Given the description of an element on the screen output the (x, y) to click on. 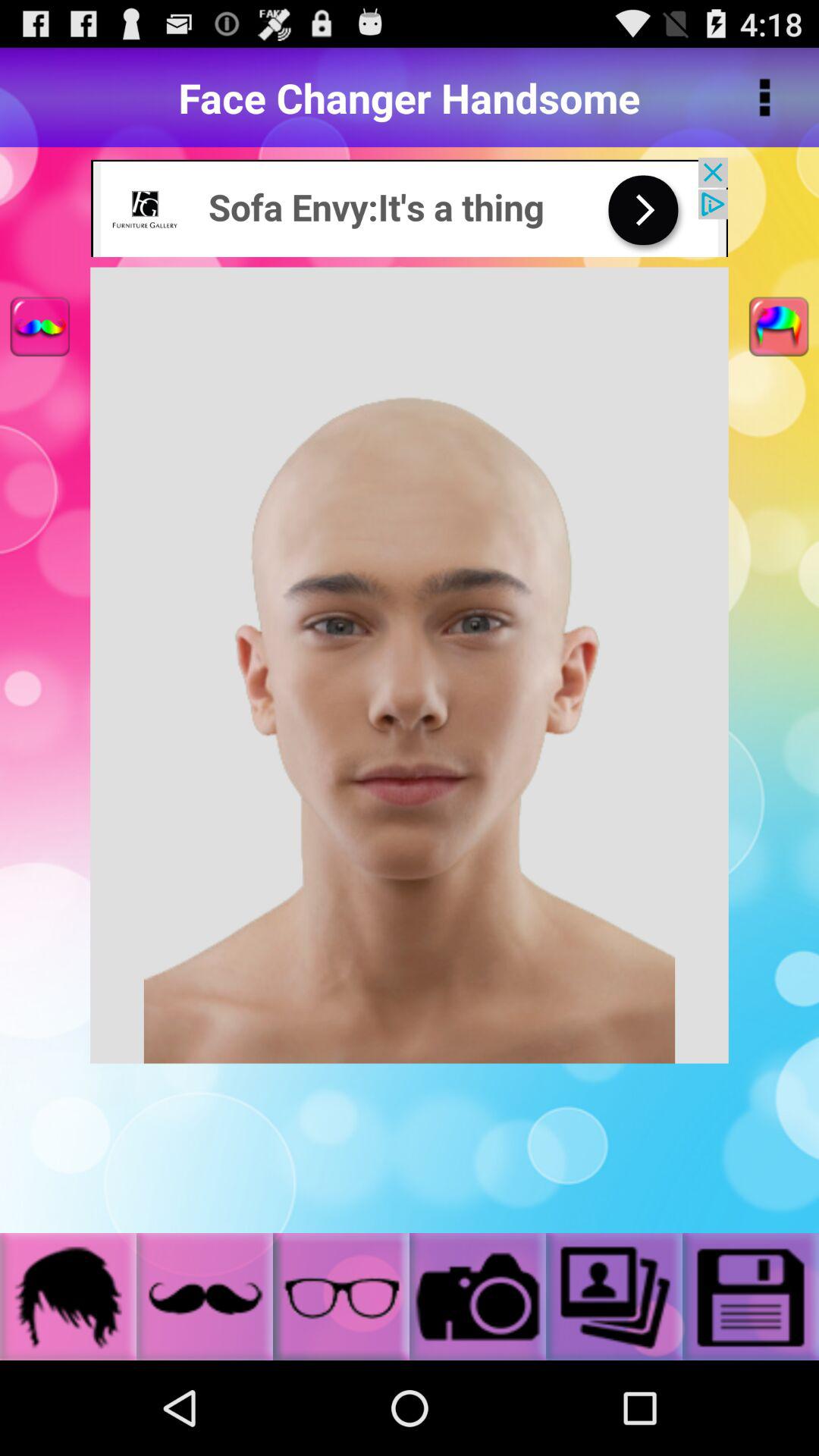
go to image (477, 1296)
